Given the description of an element on the screen output the (x, y) to click on. 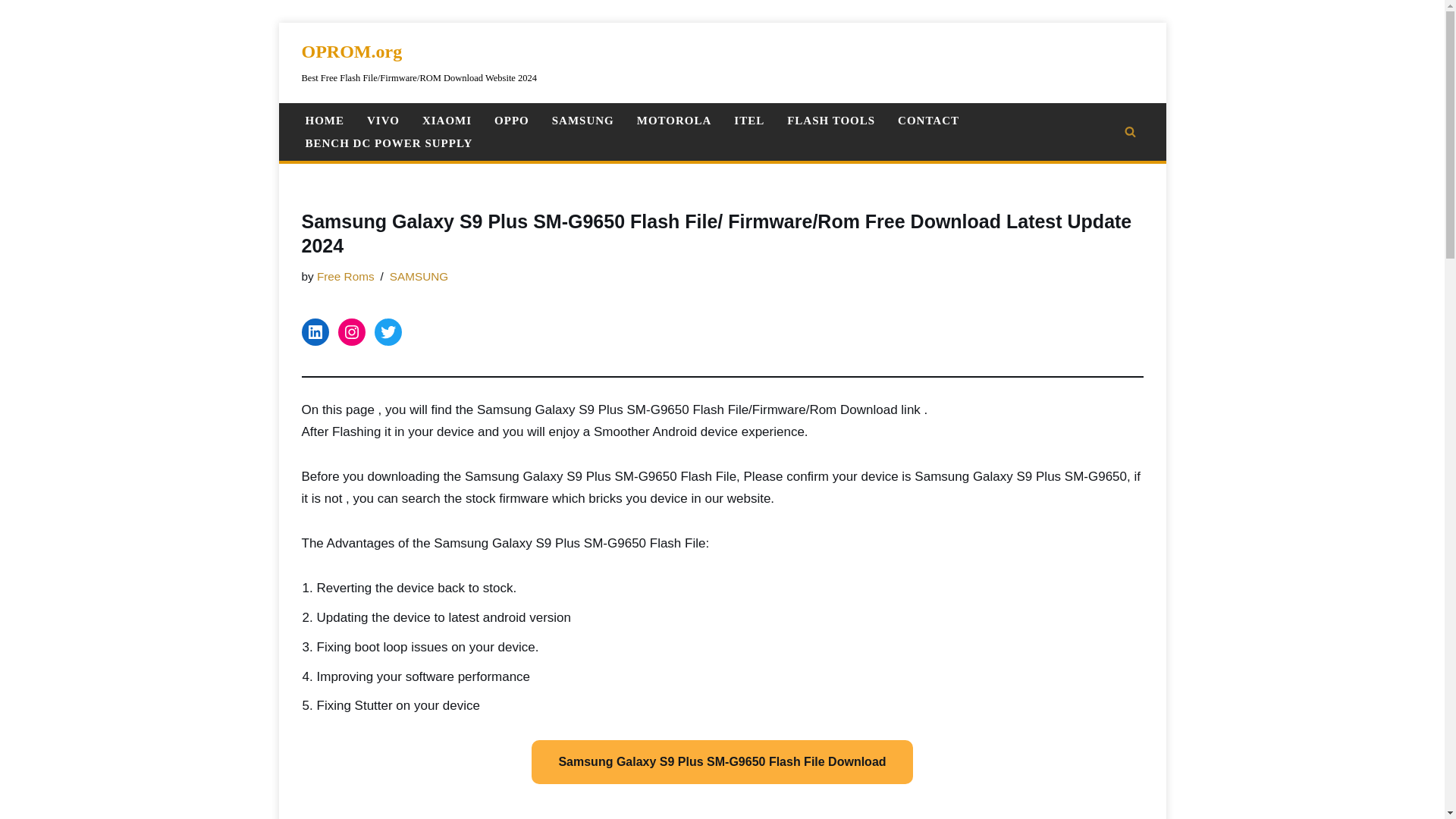
ITEL (748, 119)
Free Roms (345, 276)
SAMSUNG (582, 119)
MOTOROLA (674, 119)
BENCH DC POWER SUPPLY (387, 142)
SAMSUNG (419, 276)
VIVO (382, 119)
CONTACT (928, 119)
XIAOMI (446, 119)
OPROM.org (419, 62)
Samsung Galaxy S9 Plus SM-G9650 Flash File Download (721, 761)
OPPO (512, 119)
Posts by Free Roms (345, 276)
FLASH TOOLS (831, 119)
HOME (323, 119)
